Given the description of an element on the screen output the (x, y) to click on. 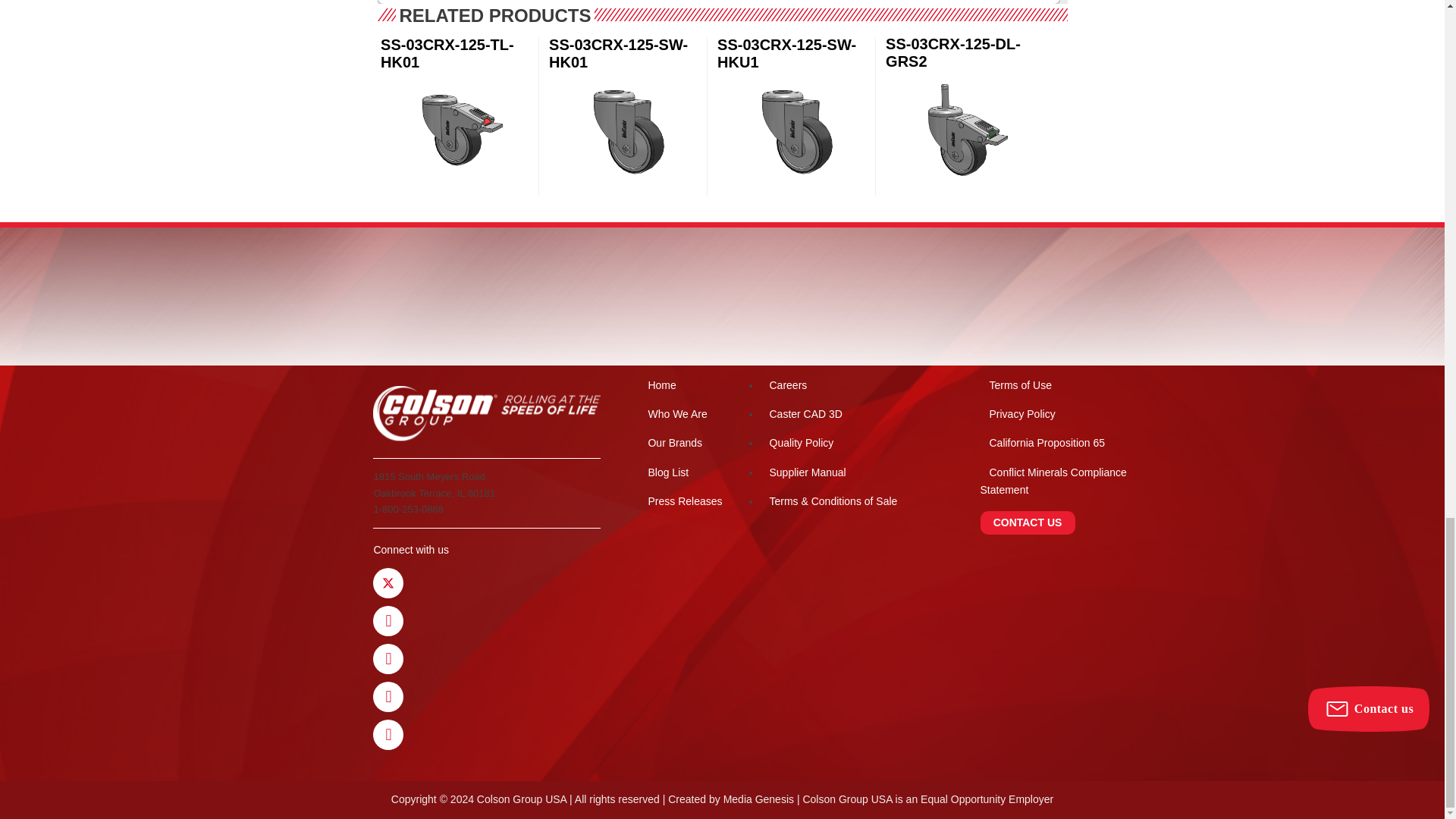
Instagram (387, 734)
LinkedIn (387, 696)
Facebook (387, 621)
Youtube (387, 658)
